Given the description of an element on the screen output the (x, y) to click on. 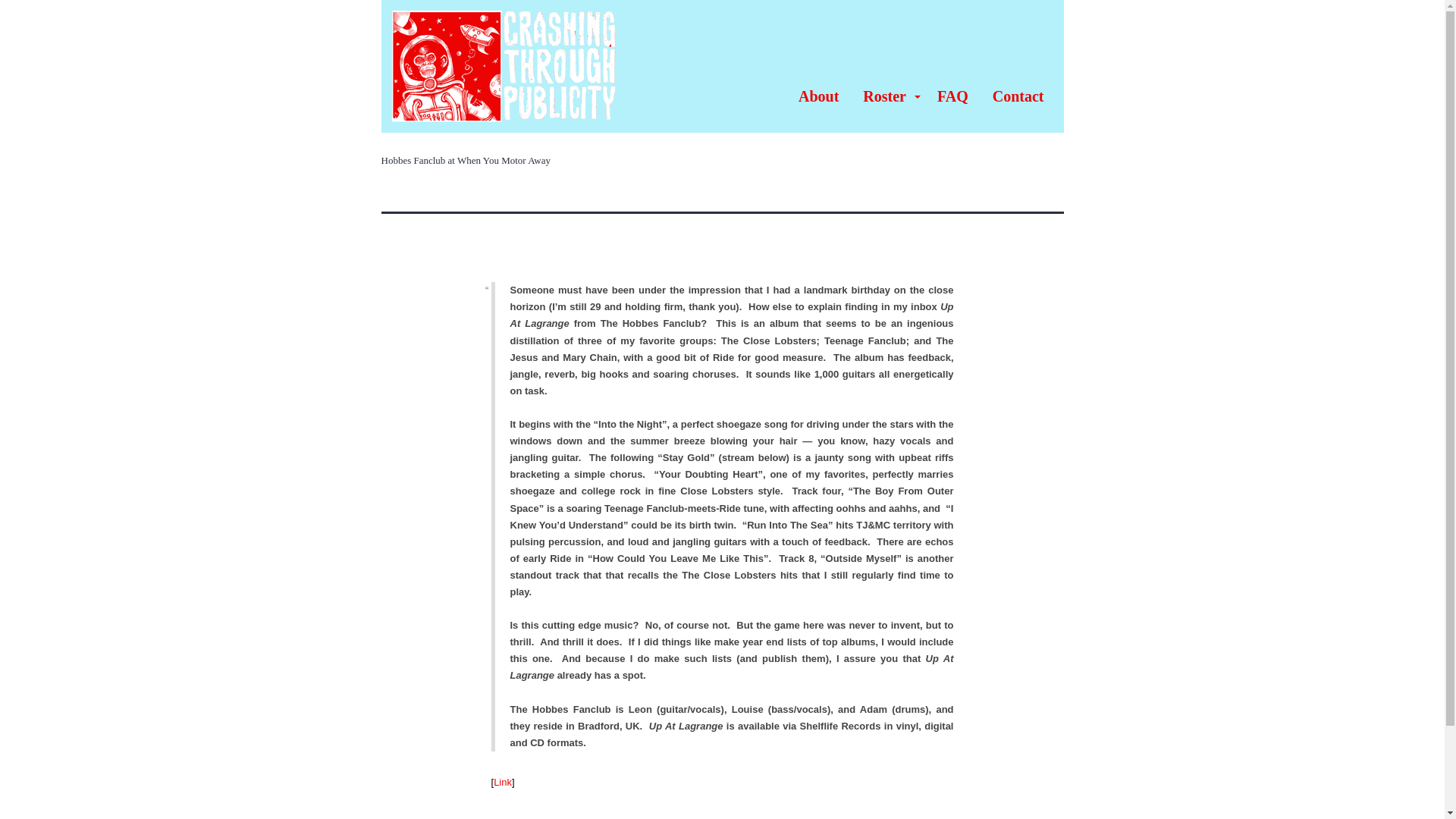
About (818, 95)
Link (502, 781)
Contact (1018, 95)
FAQ (951, 95)
Roster (887, 95)
